Given the description of an element on the screen output the (x, y) to click on. 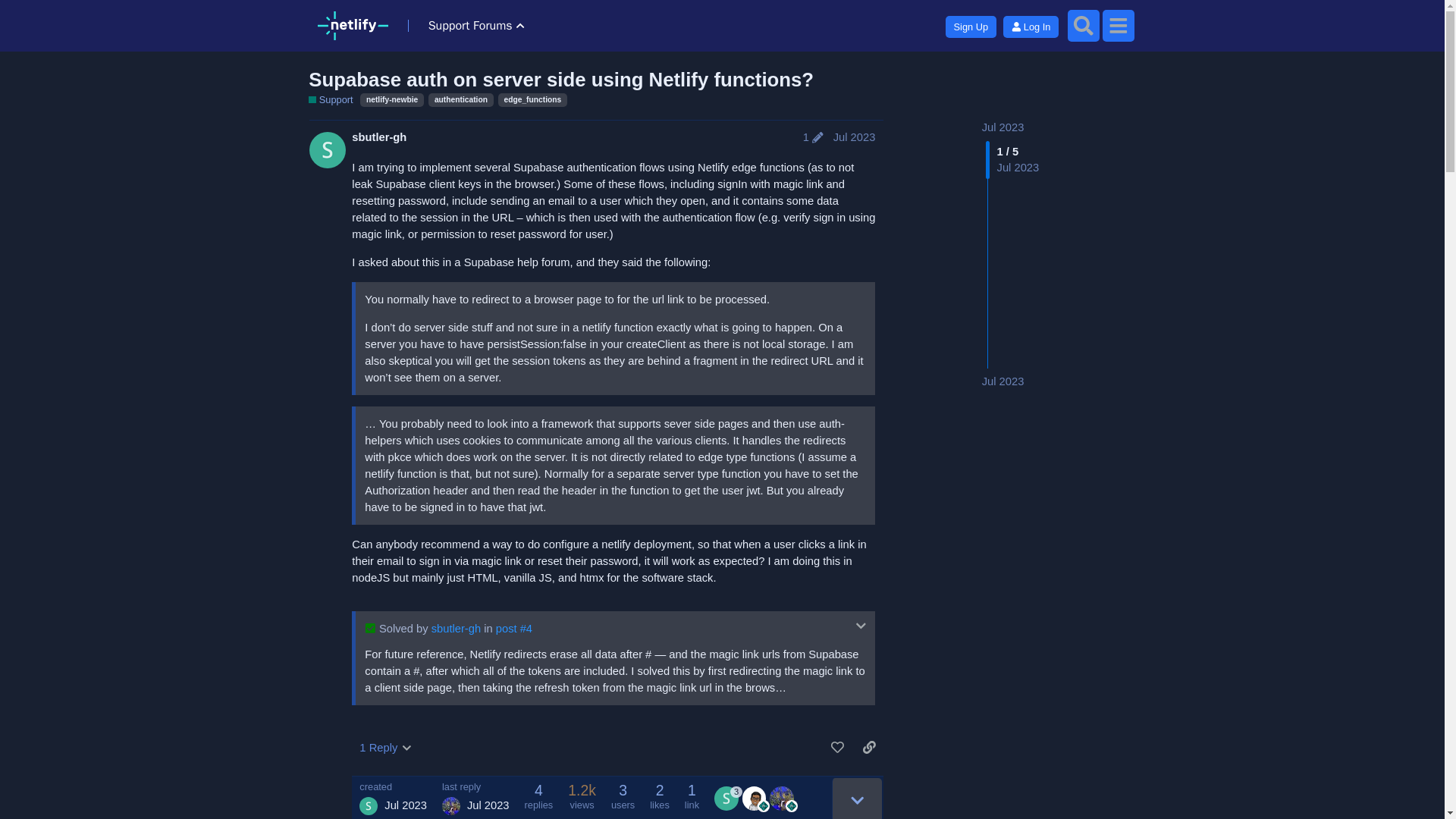
sbutler-gh (455, 628)
1 Reply (385, 747)
Jump to the last post (1003, 381)
3 (727, 798)
Log In (1030, 26)
Support (330, 100)
sbutler-gh (379, 137)
authentication (460, 100)
Support Forums (471, 25)
menu (1118, 25)
last reply (475, 787)
post last edited on Jul 26, 2023 12:33 am (812, 137)
Jul 2023 (1003, 127)
Jul 2023 (1003, 381)
Supabase auth on server side using Netlify functions? (560, 79)
